Given the description of an element on the screen output the (x, y) to click on. 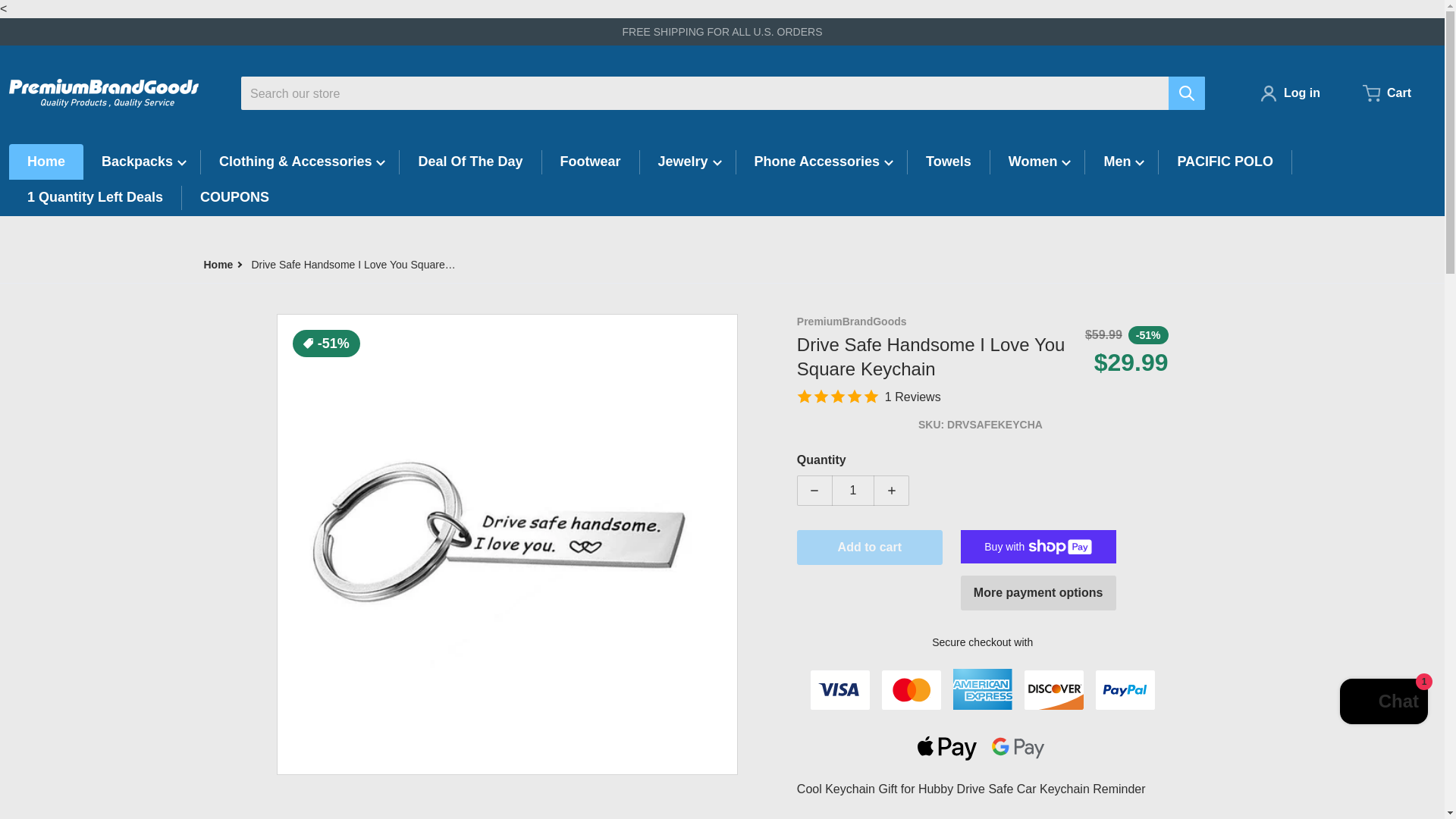
Shopify online store chat (1383, 703)
1 (853, 490)
Home page (217, 264)
Log in (1289, 92)
Skip to content (54, 6)
Cart (1386, 92)
